Given the description of an element on the screen output the (x, y) to click on. 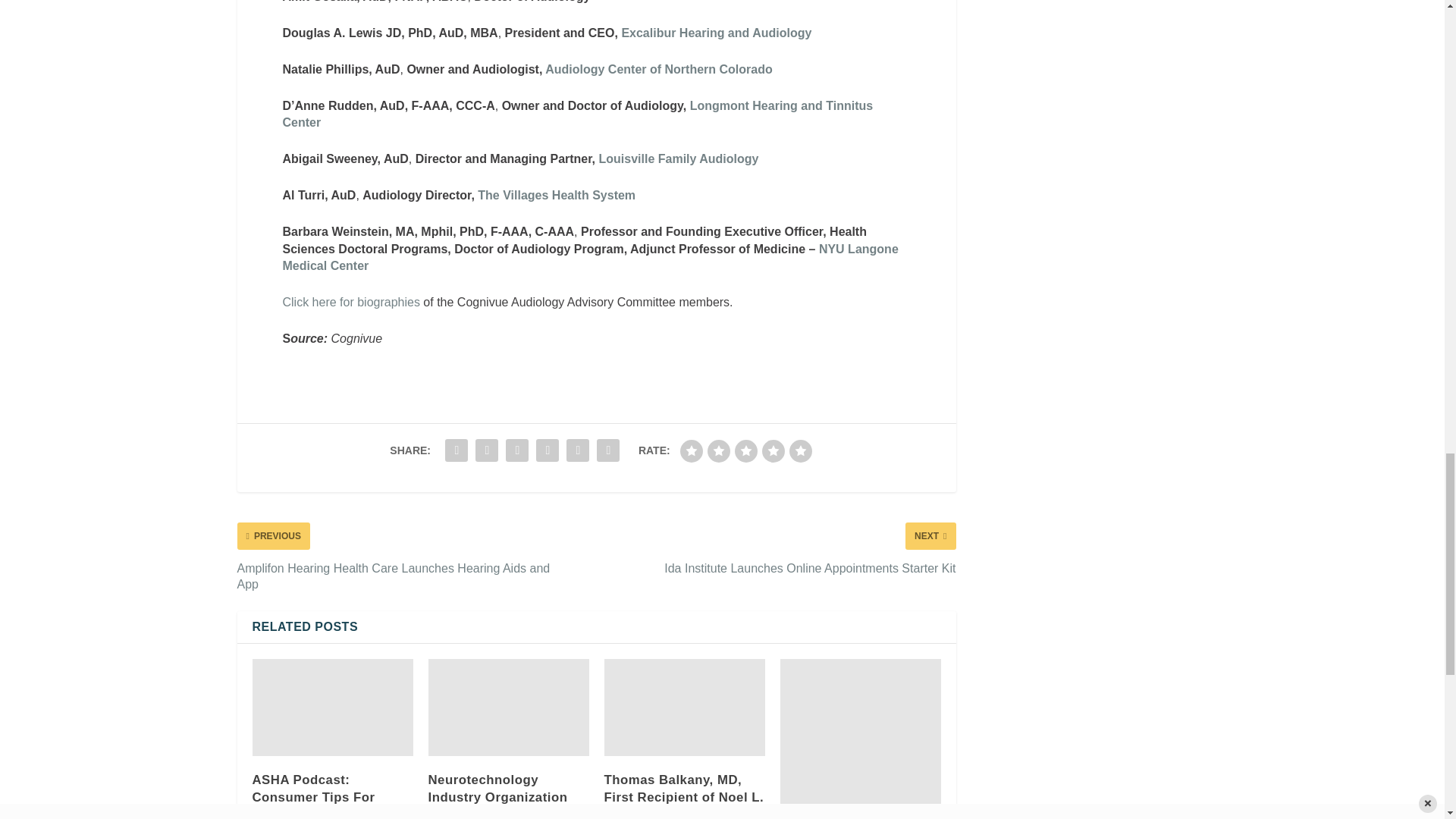
good (772, 450)
bad (691, 450)
regular (746, 450)
gorgeous (800, 450)
